Given the description of an element on the screen output the (x, y) to click on. 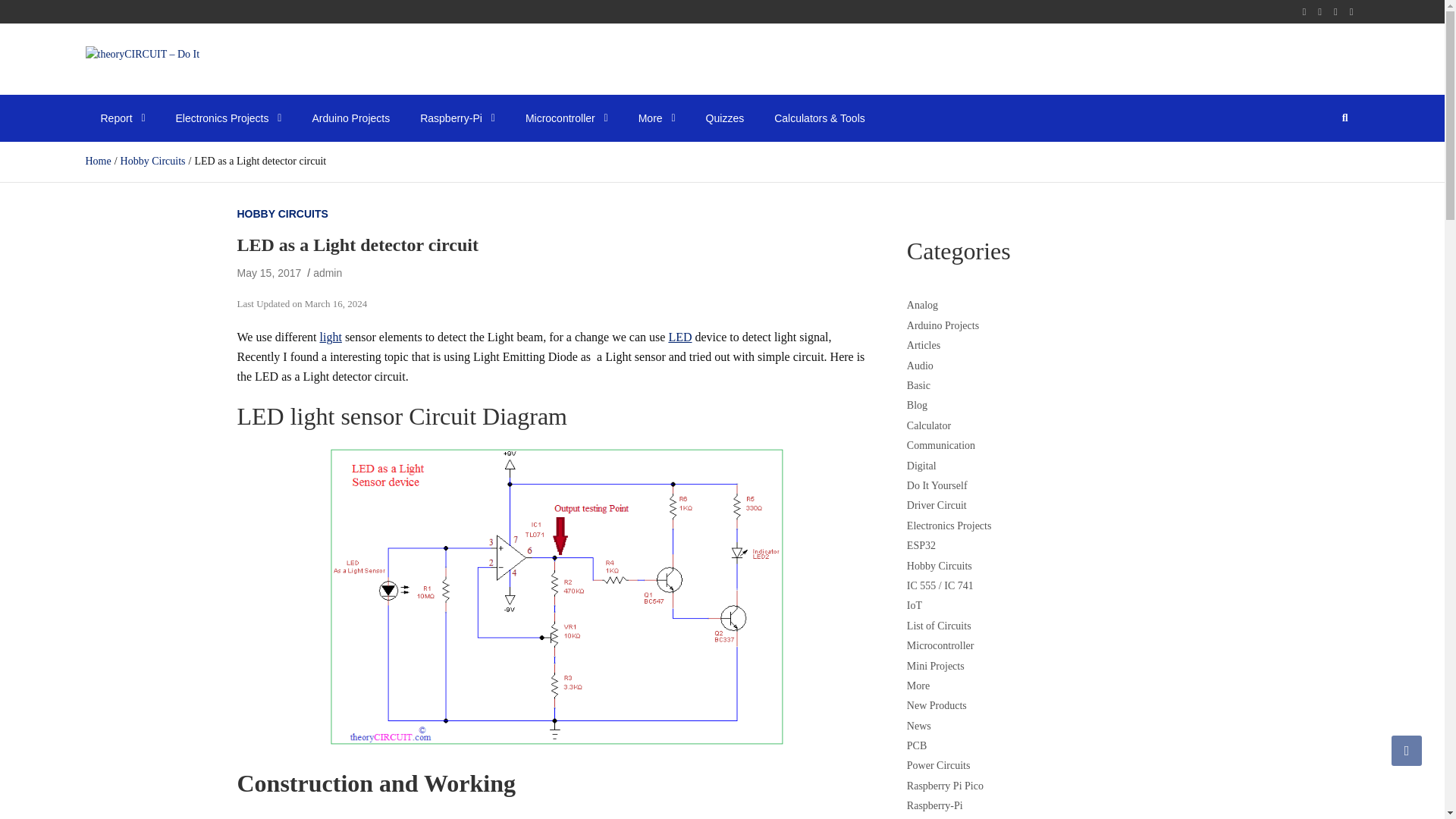
Electronics Projects (228, 118)
More (656, 118)
LED as a Light detector circuit (268, 272)
Arduino Projects (350, 118)
Raspberry-Pi (457, 118)
Report (122, 118)
Quizzes (725, 118)
Microcontroller (567, 118)
